Given the description of an element on the screen output the (x, y) to click on. 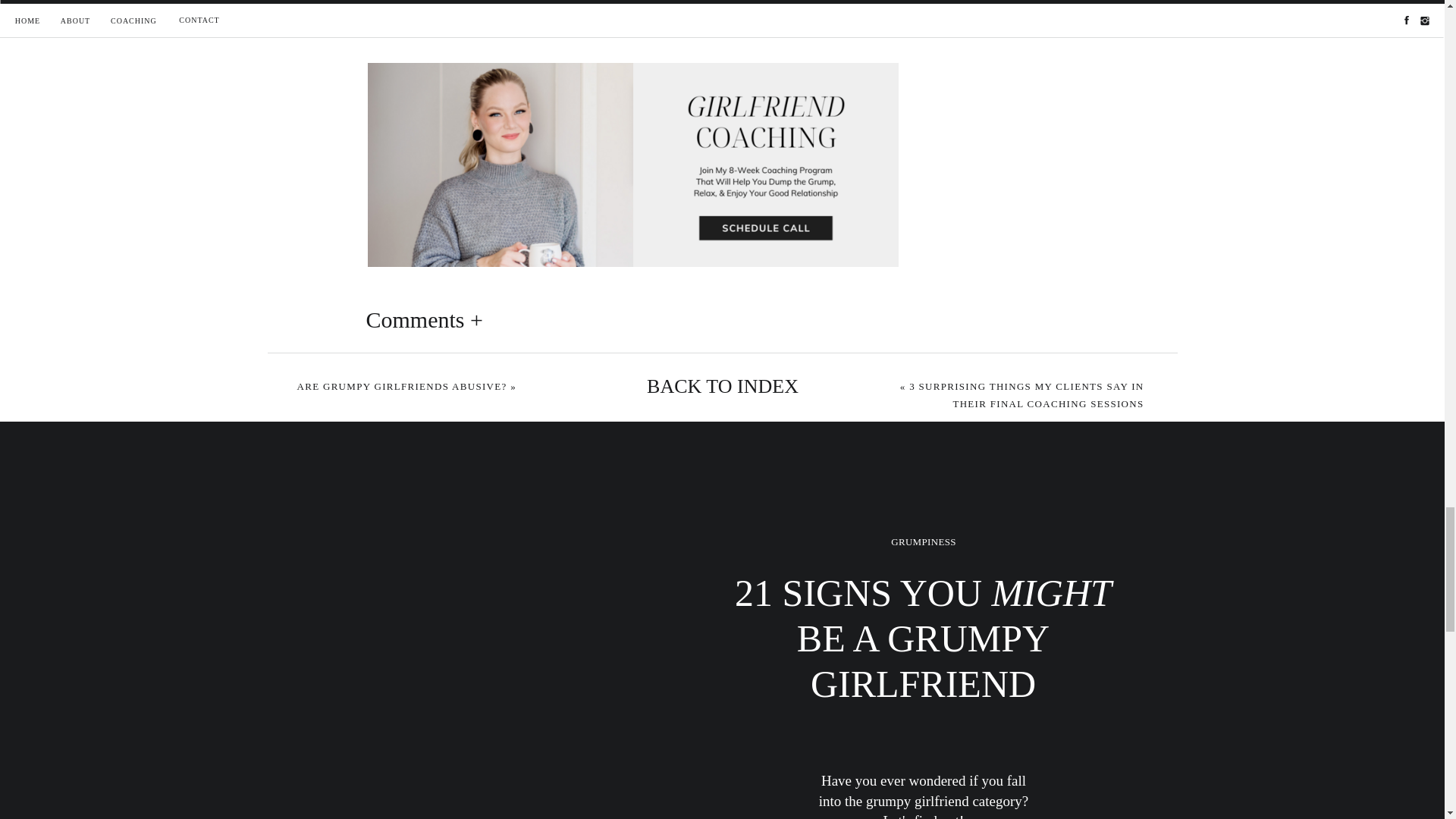
ARE GRUMPY GIRLFRIENDS ABUSIVE? (401, 386)
BACK TO INDEX (721, 387)
21 SIGNS YOU MIGHT BE A GRUMPY GIRLFRIEND (923, 670)
GRUMPINESS (922, 541)
